Given the description of an element on the screen output the (x, y) to click on. 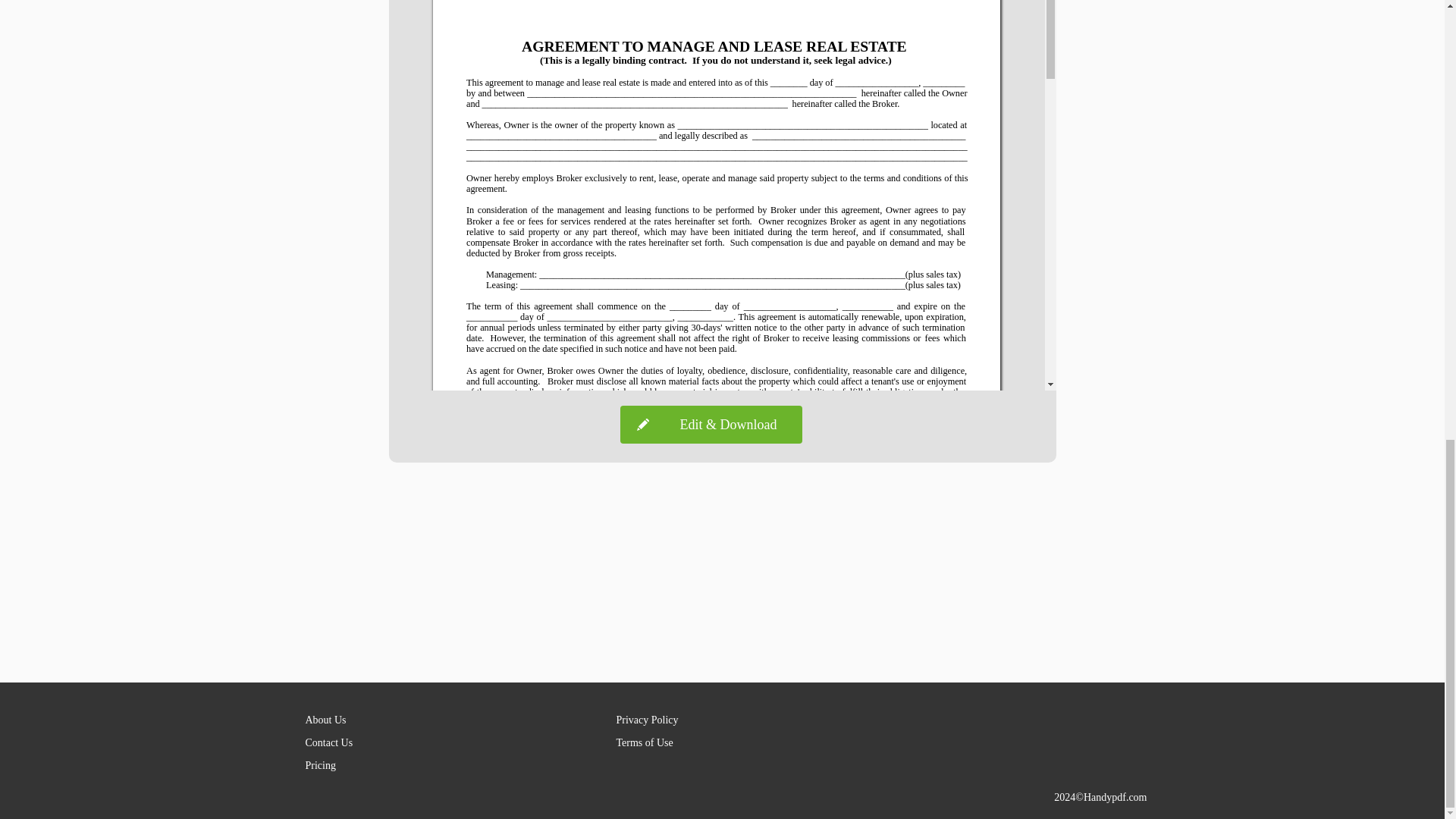
Pricing (319, 765)
Handypdf.com (1115, 797)
Terms of Use (643, 742)
Contact Us (328, 742)
About Us (325, 719)
Privacy Policy (646, 719)
